Given the description of an element on the screen output the (x, y) to click on. 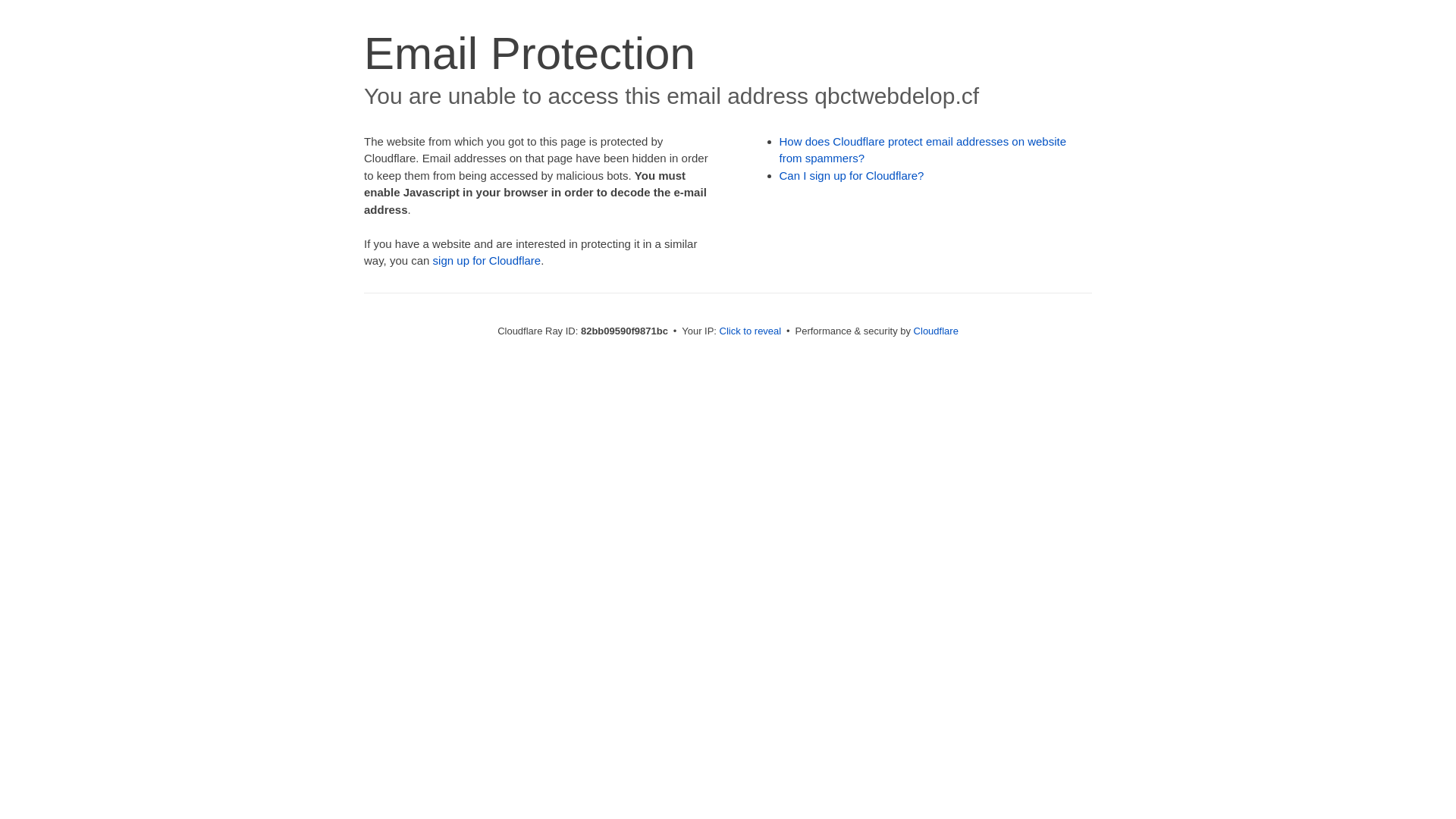
Cloudflare Element type: text (935, 330)
sign up for Cloudflare Element type: text (487, 260)
Click to reveal Element type: text (750, 330)
Can I sign up for Cloudflare? Element type: text (851, 175)
